Given the description of an element on the screen output the (x, y) to click on. 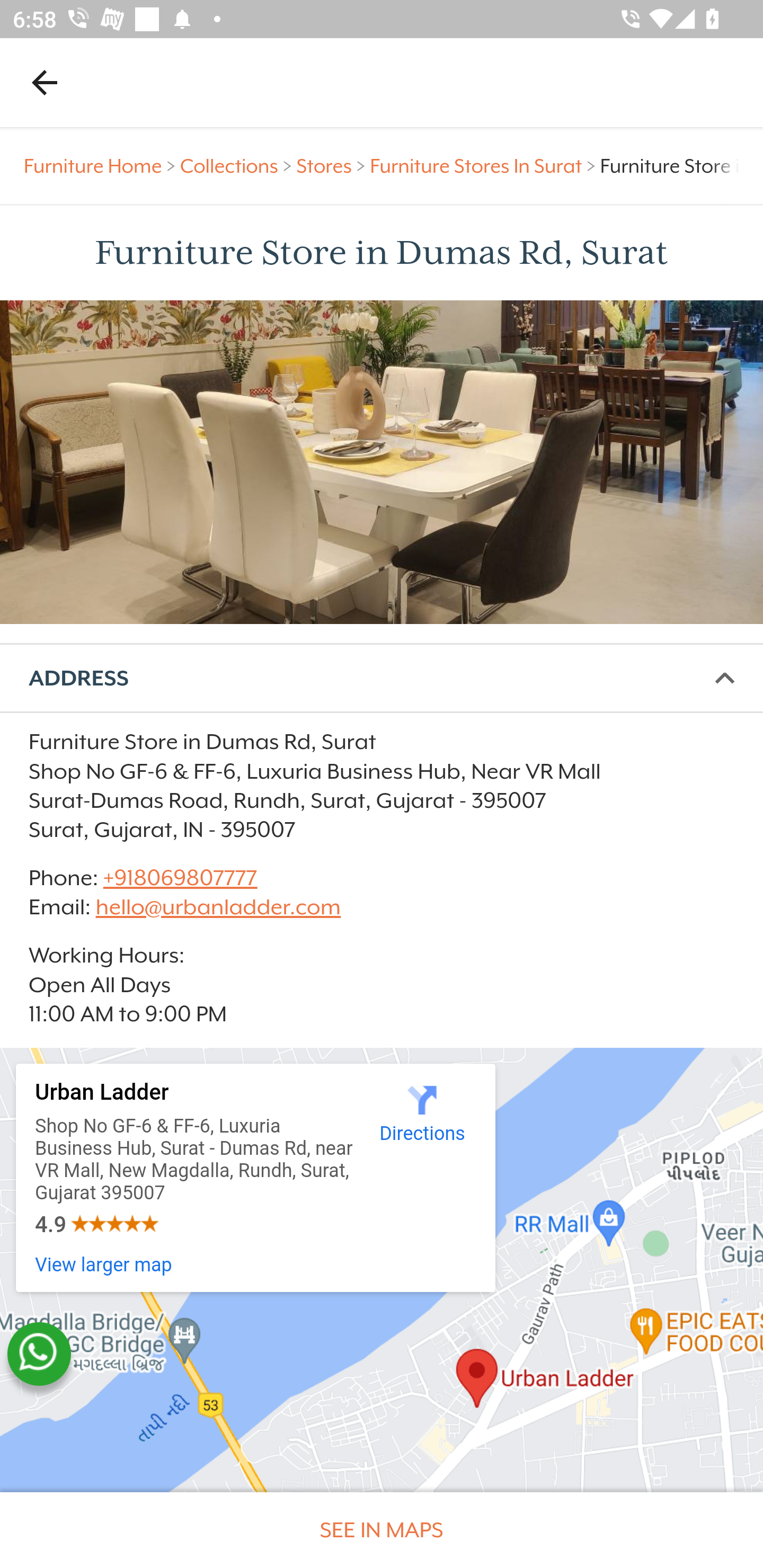
Navigate up (44, 82)
Furniture Home >  Furniture Home  >  (102, 165)
Collections >  Collections  >  (238, 165)
Stores >  Stores  >  (333, 165)
Experience Centre (381, 462)
ADDRESS (381, 677)
+918069807777 (179, 877)
hello@urbanladder.com (218, 906)
View larger map (104, 1265)
whatsapp (38, 1353)
SEE IN MAPS (381, 1530)
